Given the description of an element on the screen output the (x, y) to click on. 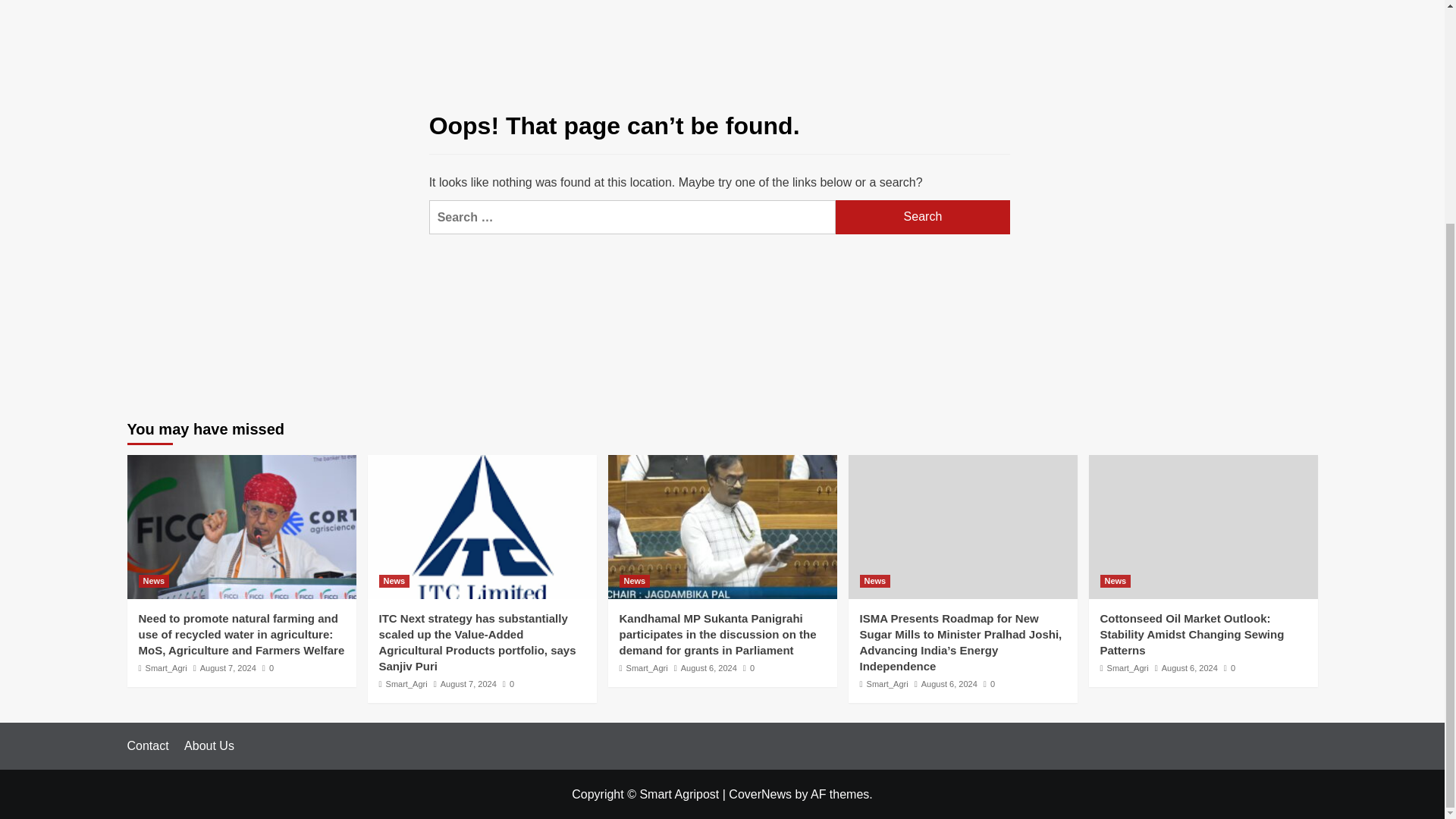
August 7, 2024 (228, 667)
Search (922, 216)
0 (507, 683)
News (394, 581)
News (633, 581)
August 6, 2024 (708, 667)
News (153, 581)
0 (267, 667)
Search (922, 216)
Search (922, 216)
August 7, 2024 (468, 683)
